Given the description of an element on the screen output the (x, y) to click on. 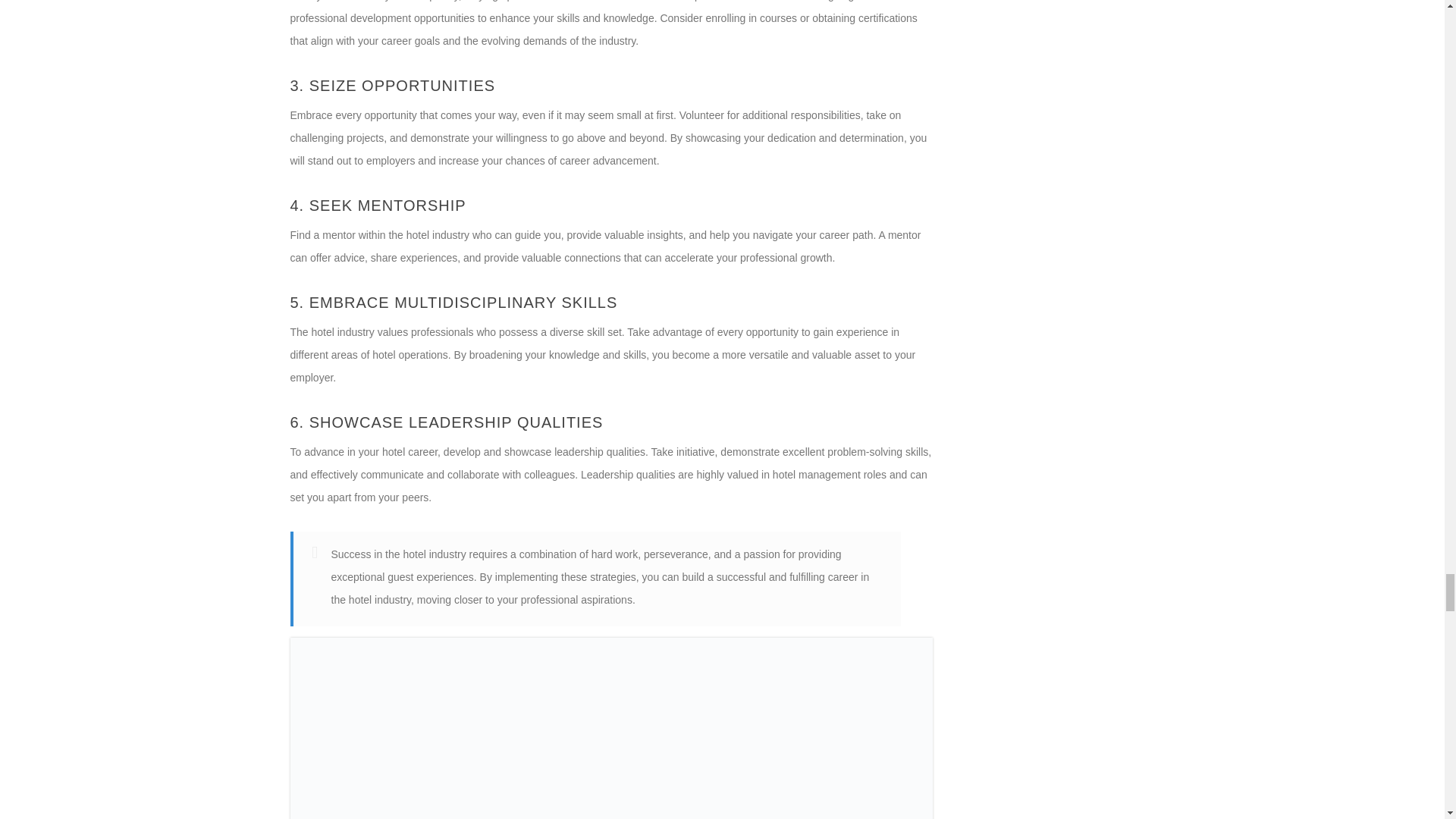
hotel careers (611, 728)
